Given the description of an element on the screen output the (x, y) to click on. 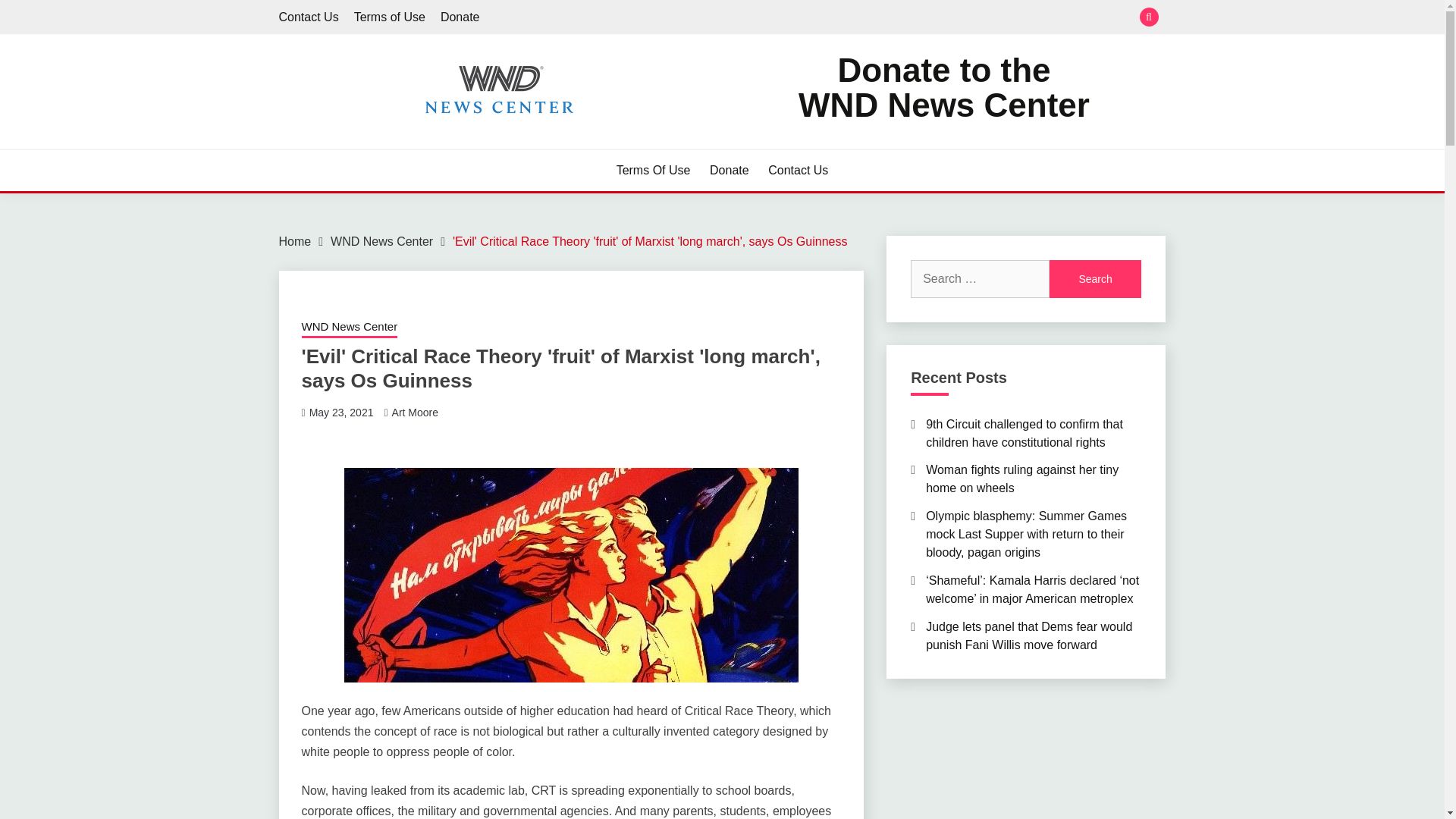
Search (1095, 279)
Terms Of Use (652, 170)
Contact Us (309, 16)
WND NEWS CENTER (943, 87)
Contact Us (419, 142)
Donate (798, 170)
Art Moore (729, 170)
WND News Center (414, 412)
Terms of Use (381, 241)
Home (389, 16)
WND News Center (295, 241)
May 23, 2021 (349, 328)
Search (341, 412)
